Given the description of an element on the screen output the (x, y) to click on. 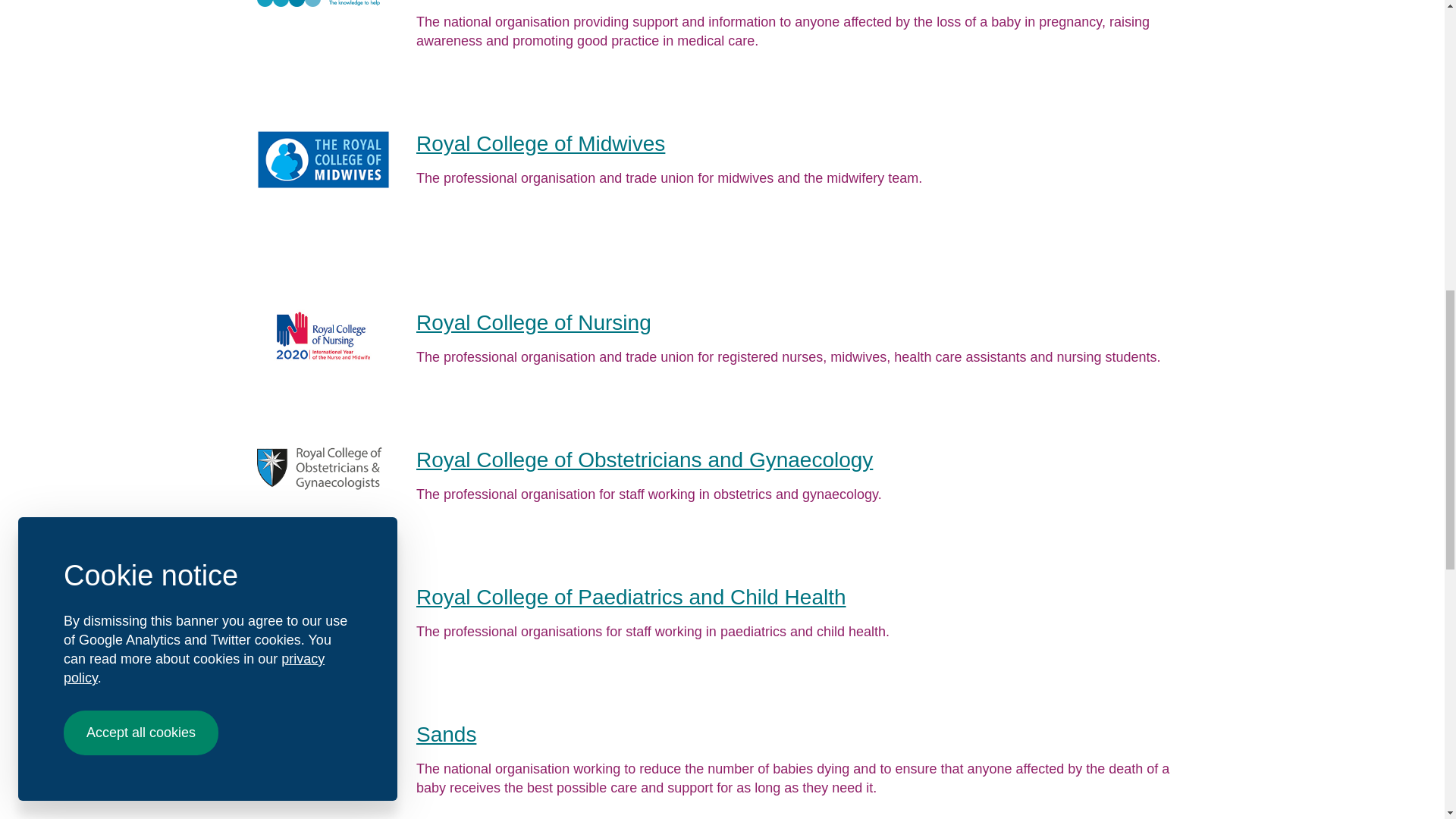
Go to www.rcpch.ac.uk (630, 597)
Go to www.rcm.org.uk (540, 143)
Royal College of Obstetricians and Gynaecology (644, 459)
Royal College of Midwives (540, 143)
Sands (446, 734)
Royal College of Paediatrics and Child Health (630, 597)
Go to www.rcog.org.uk (644, 459)
Royal College of Nursing (533, 322)
Go to www.rcn.org.uk (533, 322)
